Given the description of an element on the screen output the (x, y) to click on. 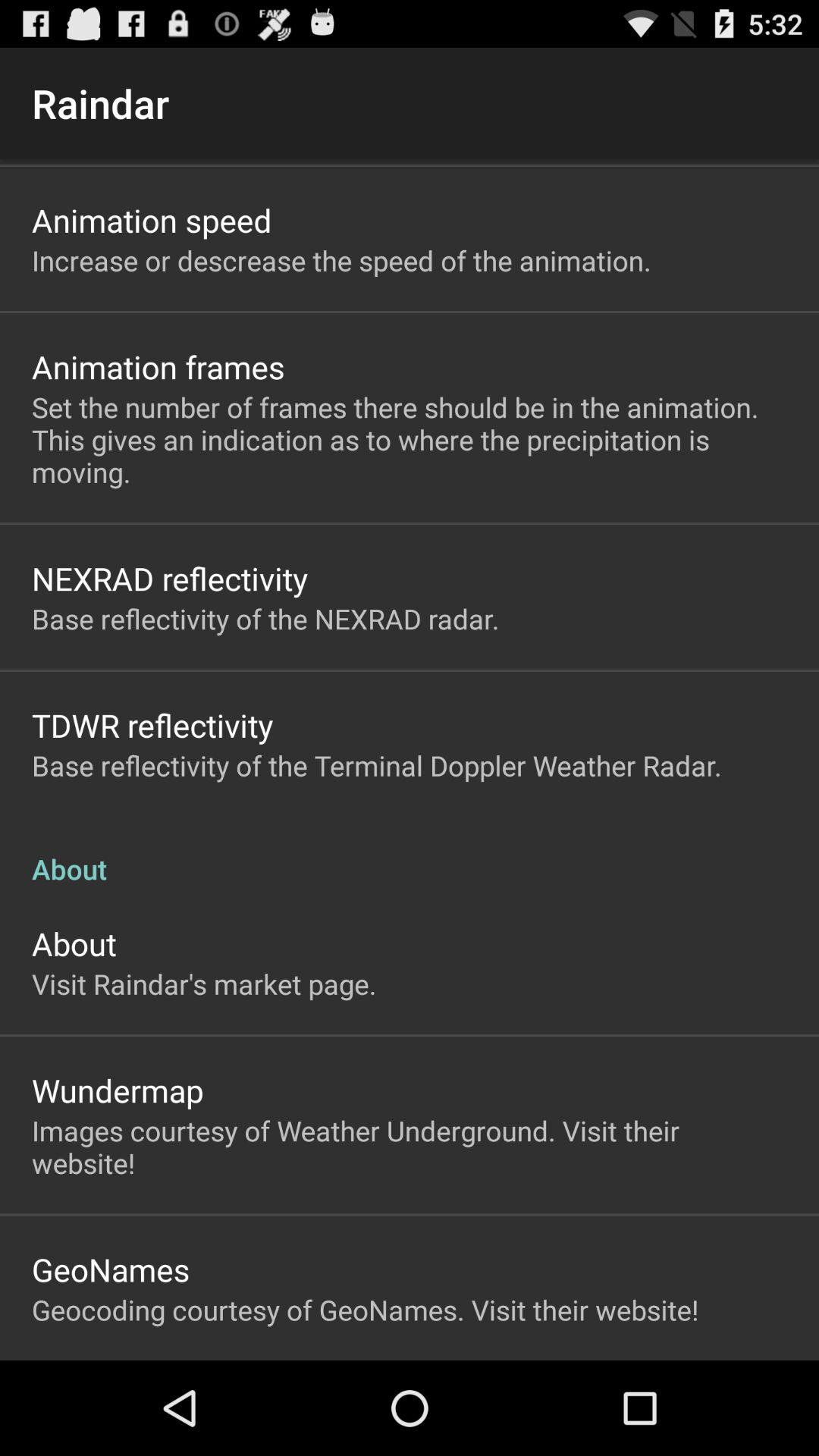
open the icon below the geonames item (364, 1309)
